Given the description of an element on the screen output the (x, y) to click on. 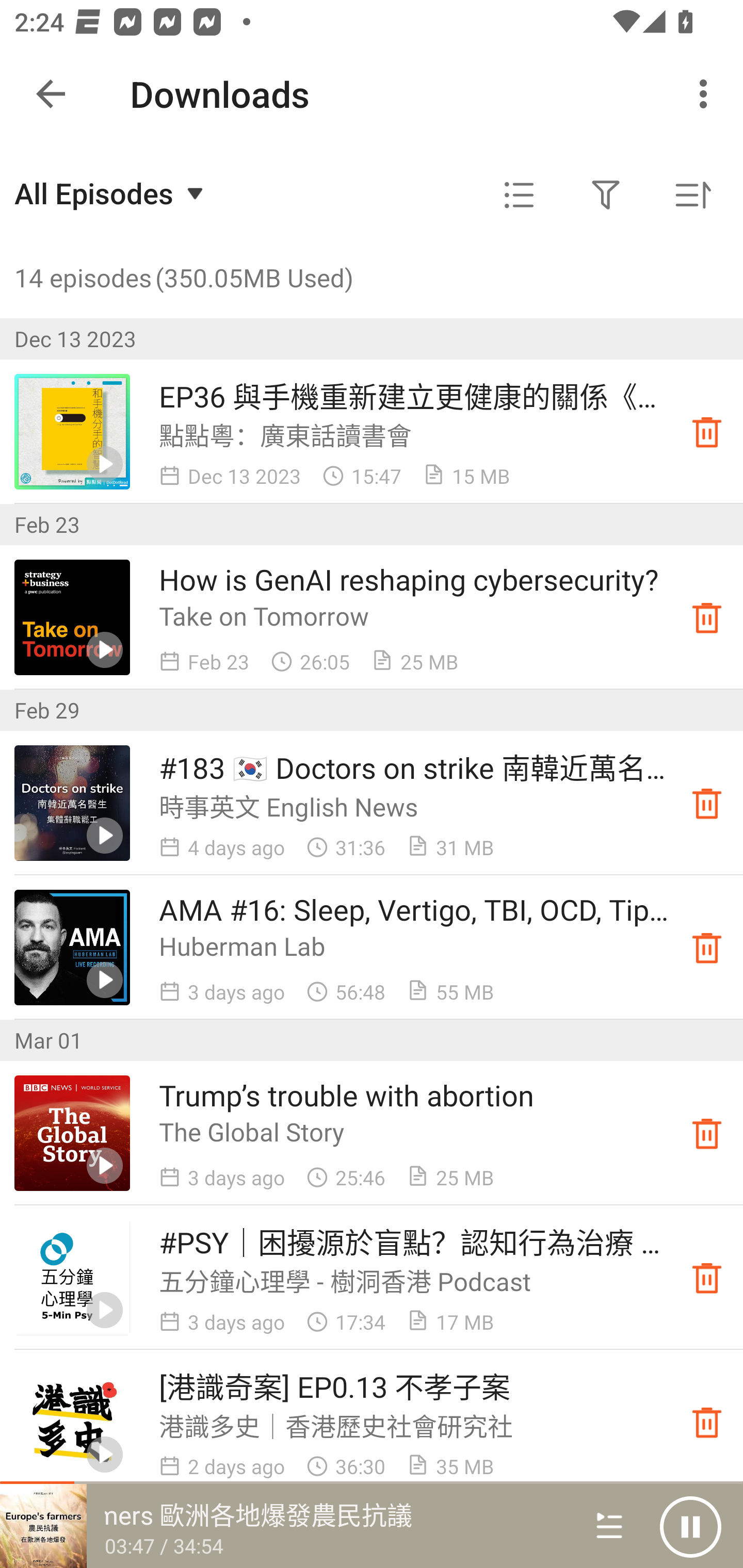
Navigate up (50, 93)
More options (706, 93)
All Episodes (111, 192)
 (518, 195)
 (605, 195)
 Sorted by oldest first (692, 195)
Downloaded (706, 431)
Downloaded (706, 617)
Downloaded (706, 802)
Downloaded (706, 947)
Downloaded (706, 1133)
Downloaded (706, 1277)
Downloaded (706, 1422)
#181 🧑‍🌾 Europe's farmers 歐洲各地爆發農民抗議 03:47 / 34:54 (283, 1525)
Pause (690, 1526)
